Given the description of an element on the screen output the (x, y) to click on. 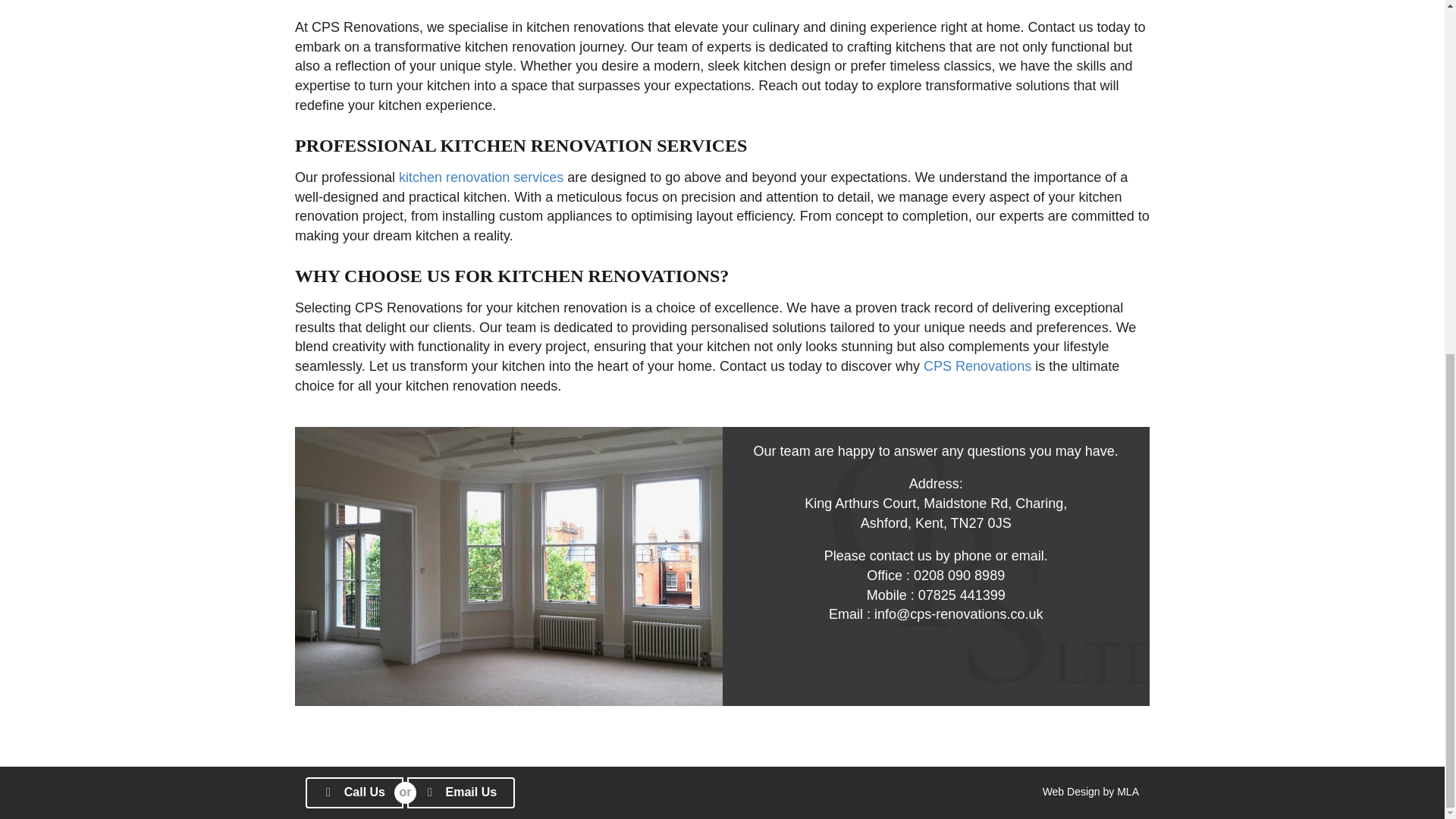
kitchen renovation services (480, 177)
Call Us (354, 792)
Web Design (1071, 791)
CPS Renovations (976, 365)
Email Us (461, 792)
